Given the description of an element on the screen output the (x, y) to click on. 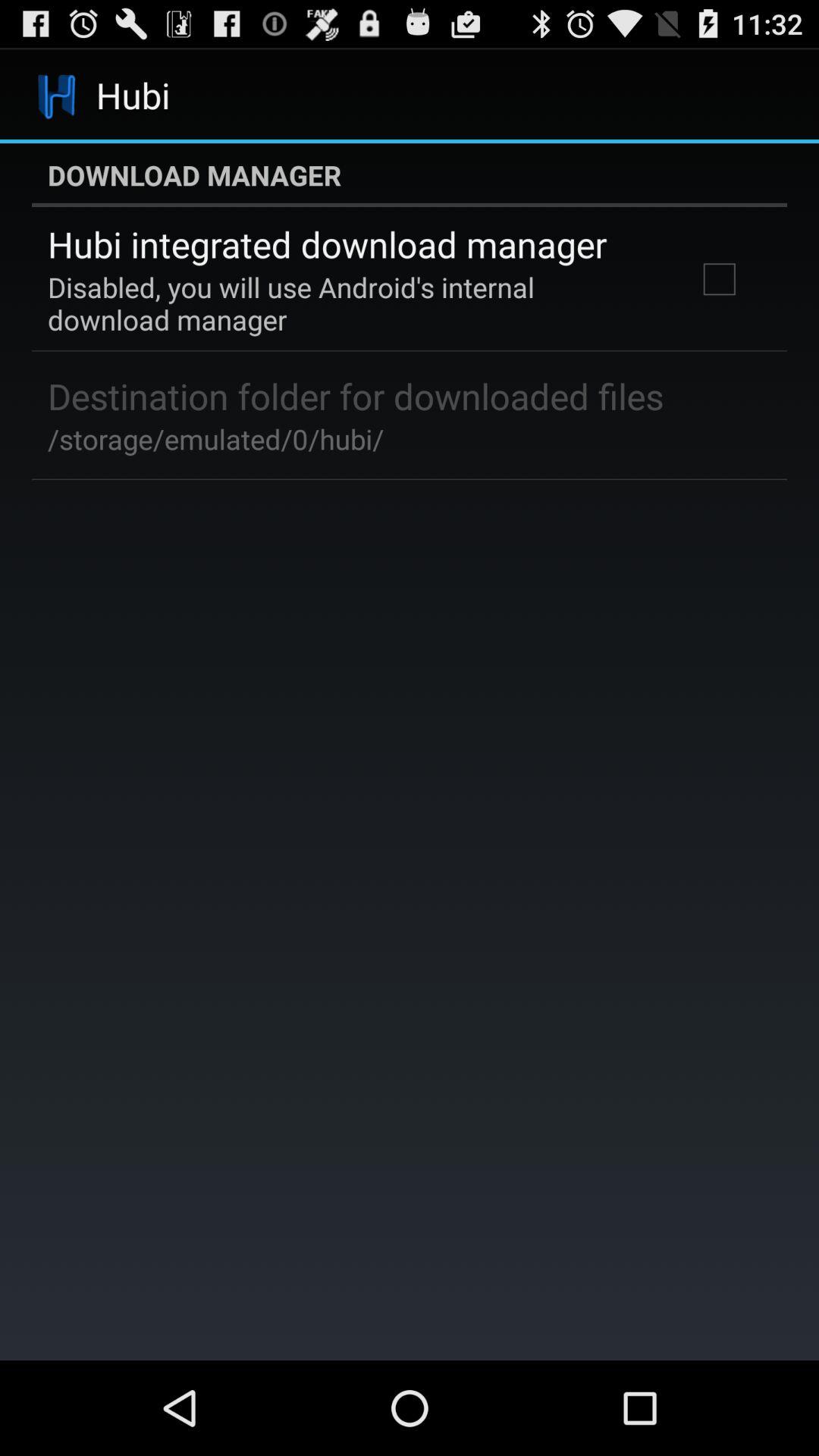
tap the item below the download manager icon (326, 244)
